Given the description of an element on the screen output the (x, y) to click on. 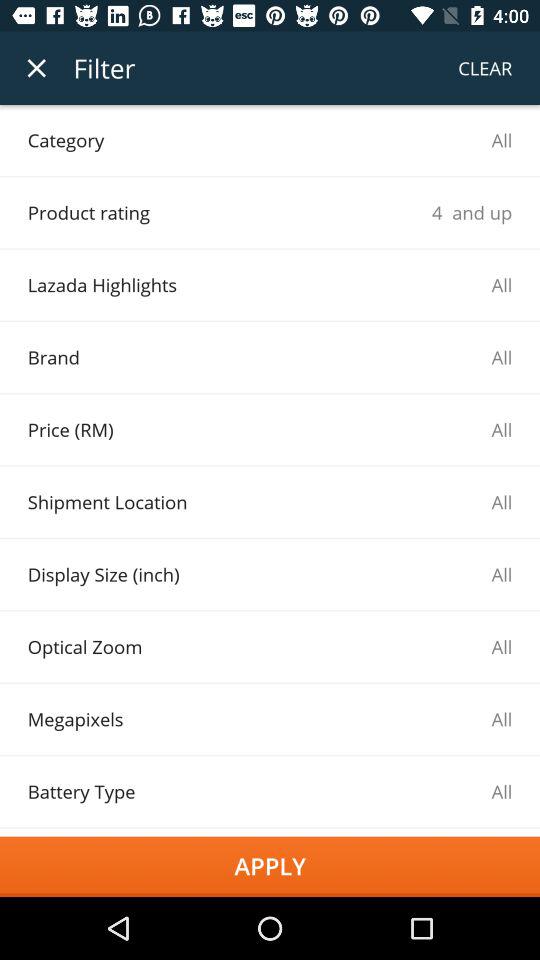
swipe until the clear item (485, 68)
